Given the description of an element on the screen output the (x, y) to click on. 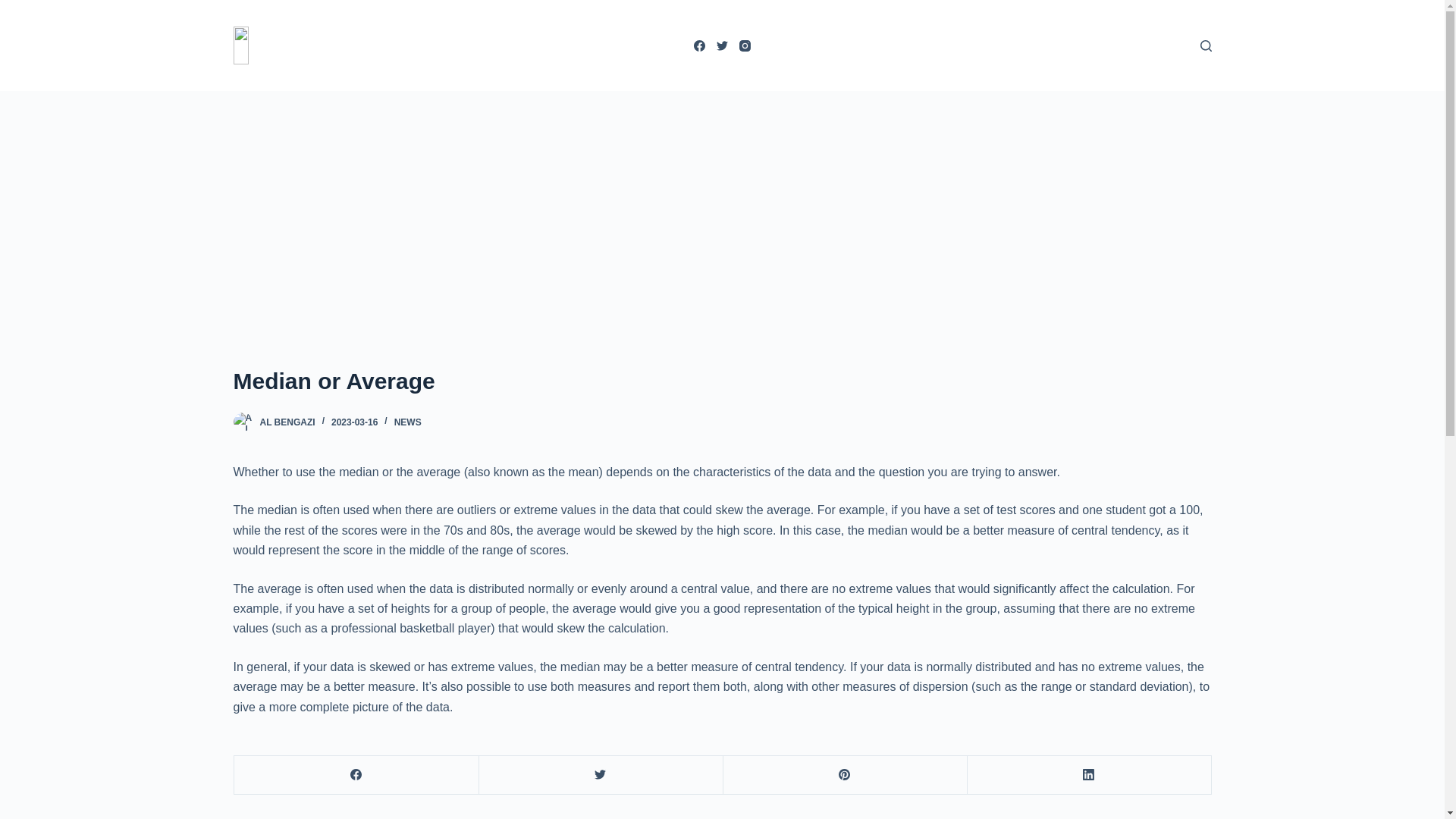
Posts by Al Bengazi (286, 421)
Skip to content (15, 7)
NEWS (408, 421)
AL BENGAZI (286, 421)
Median or Average (721, 380)
